Given the description of an element on the screen output the (x, y) to click on. 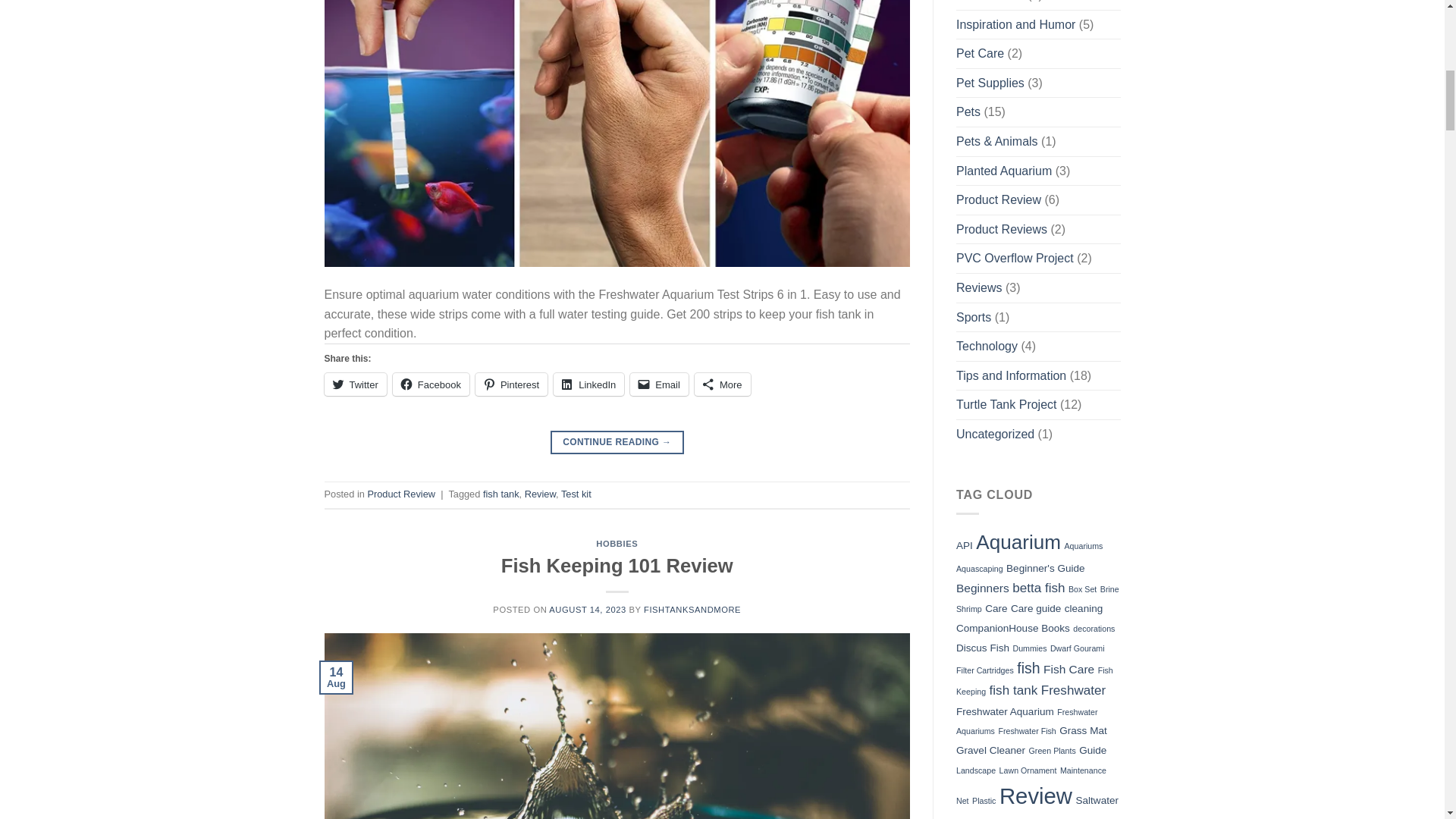
Click to share on Twitter (355, 384)
Click to share on LinkedIn (588, 384)
Click to share on Facebook (430, 384)
Click to email a link to a friend (659, 384)
fish tank (501, 493)
Review (540, 493)
LinkedIn (588, 384)
Facebook (430, 384)
Pinterest (511, 384)
More (722, 384)
